Given the description of an element on the screen output the (x, y) to click on. 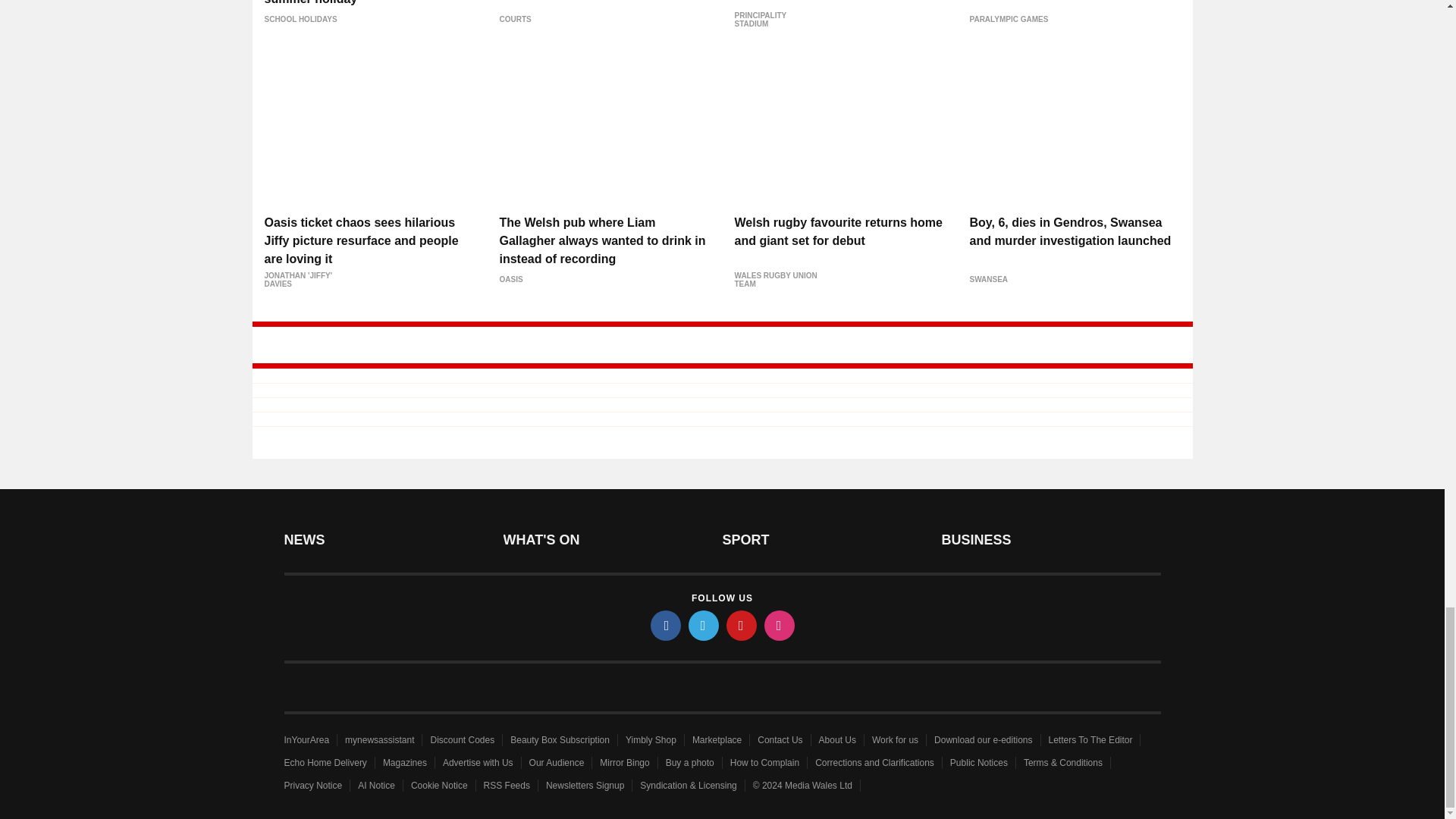
twitter (703, 625)
facebook (665, 625)
instagram (779, 625)
pinterest (741, 625)
